Given the description of an element on the screen output the (x, y) to click on. 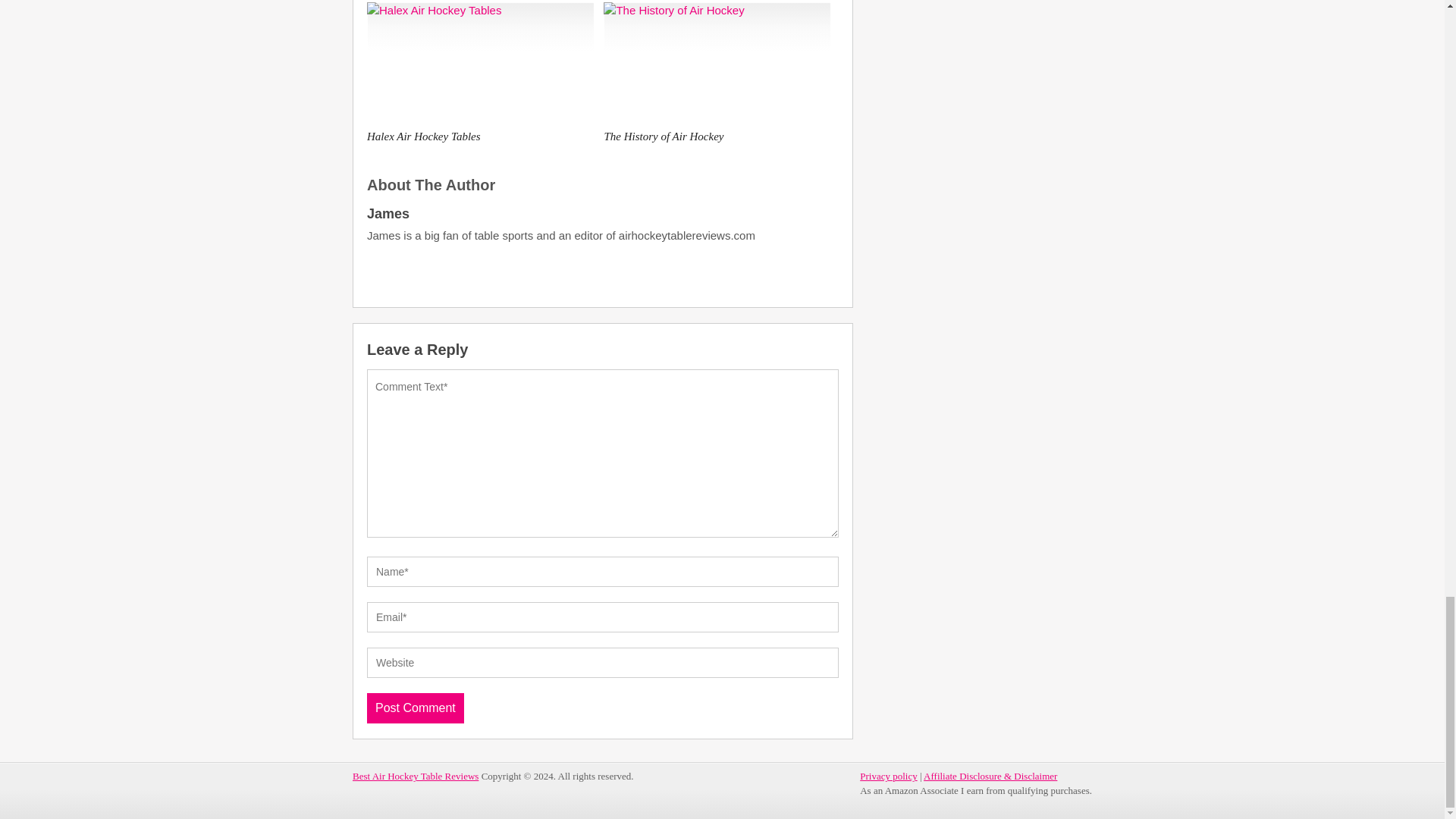
Post Comment (415, 707)
Halex Air Hockey Tables (480, 136)
The History of Air Hockey (717, 136)
Halex Air Hockey Tables (480, 62)
The History of Air Hockey (717, 62)
